Given the description of an element on the screen output the (x, y) to click on. 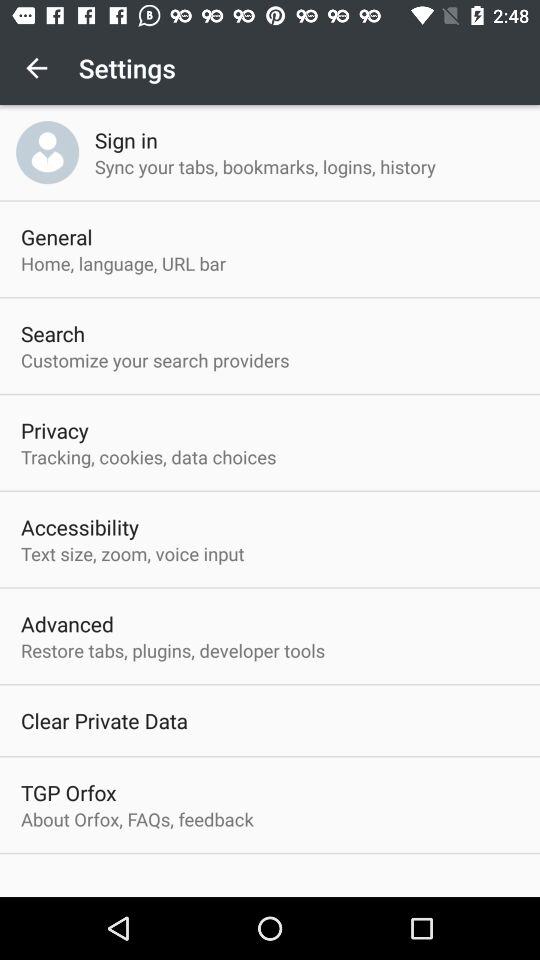
open the item above accessibility item (148, 456)
